Given the description of an element on the screen output the (x, y) to click on. 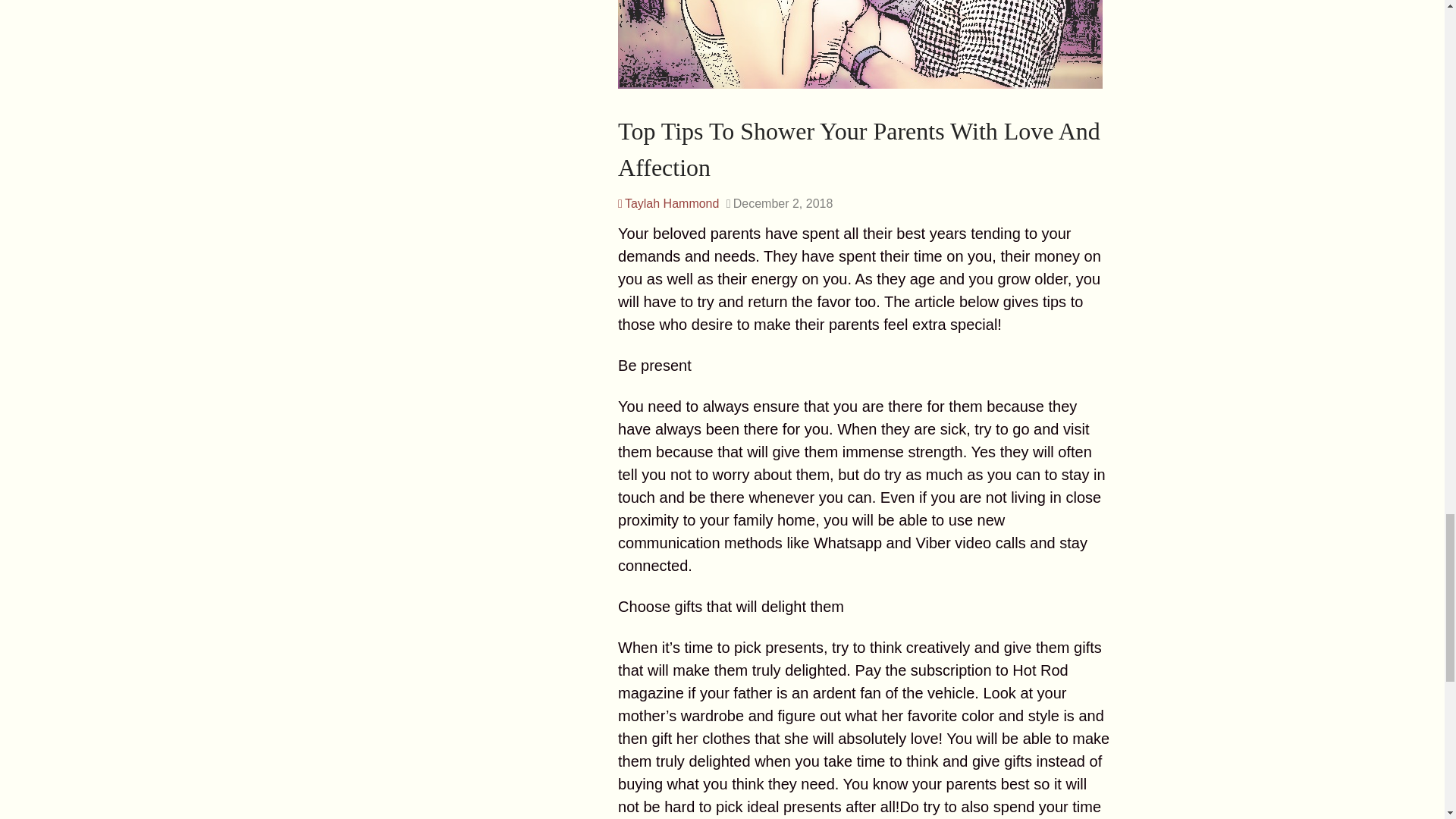
Posts by Taylah Hammond (668, 203)
Taylah Hammond (668, 203)
Top Tips To Shower Your Parents With Love And Affection (858, 148)
Sunday, December 2, 2018, 11:26 pm (779, 203)
